Given the description of an element on the screen output the (x, y) to click on. 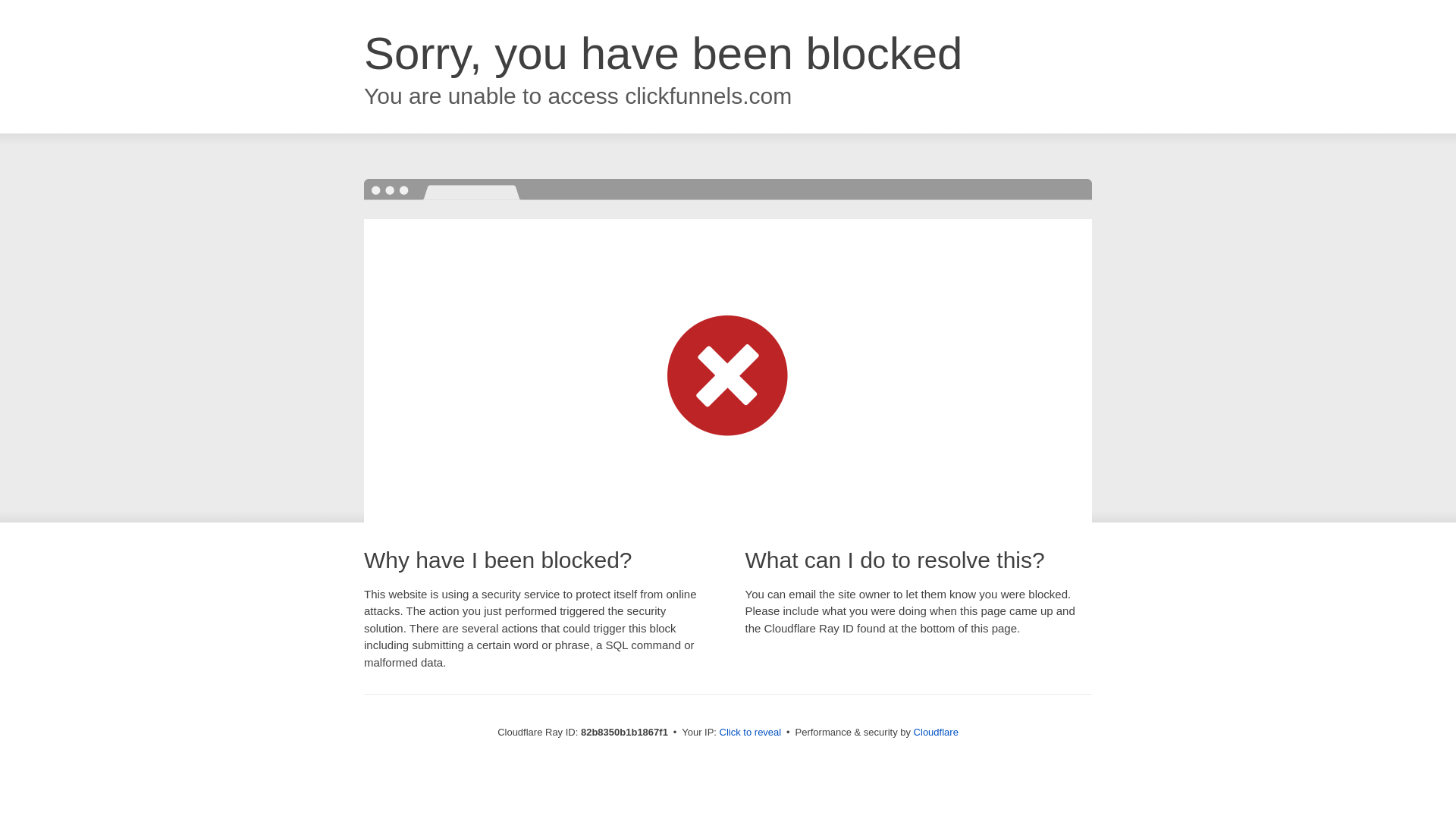
Click to reveal Element type: text (750, 732)
Cloudflare Element type: text (935, 731)
